Given the description of an element on the screen output the (x, y) to click on. 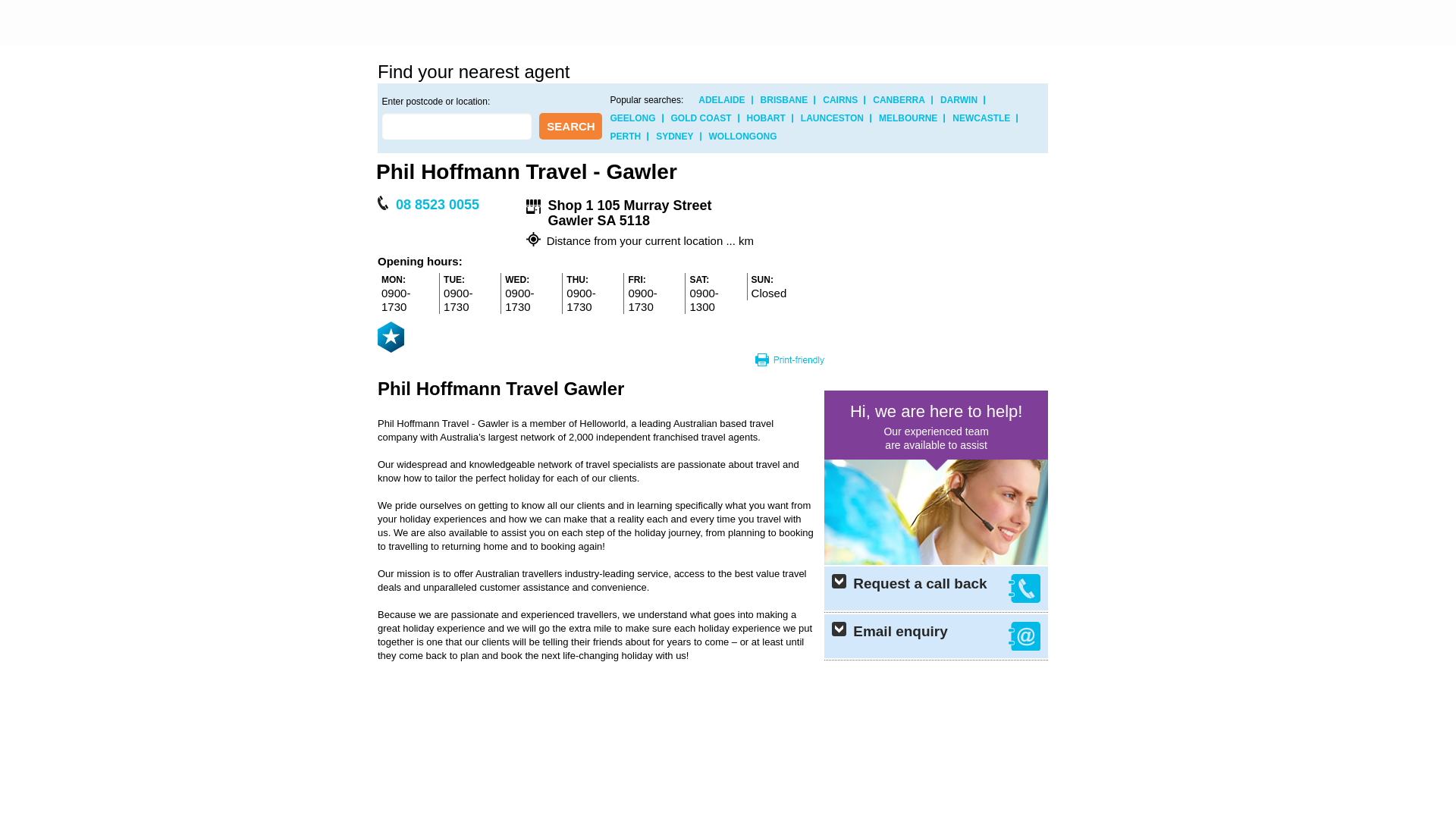
GEELONG Element type: text (632, 117)
MELBOURNE Element type: text (907, 117)
WOLLONGONG Element type: text (743, 136)
Request a call back Element type: text (936, 587)
DARWIN Element type: text (958, 99)
LAUNCESTON Element type: text (831, 117)
CANBERRA Element type: text (898, 99)
08 8523 0055 Element type: text (435, 204)
NEWCASTLE Element type: text (981, 117)
GOLD COAST Element type: text (701, 117)
SYDNEY Element type: text (674, 136)
Email enquiry Element type: text (936, 635)
HOBART Element type: text (765, 117)
BRISBANE Element type: text (784, 99)
CAIRNS Element type: text (839, 99)
ADELAIDE Element type: text (721, 99)
PERTH Element type: text (624, 136)
